Given the description of an element on the screen output the (x, y) to click on. 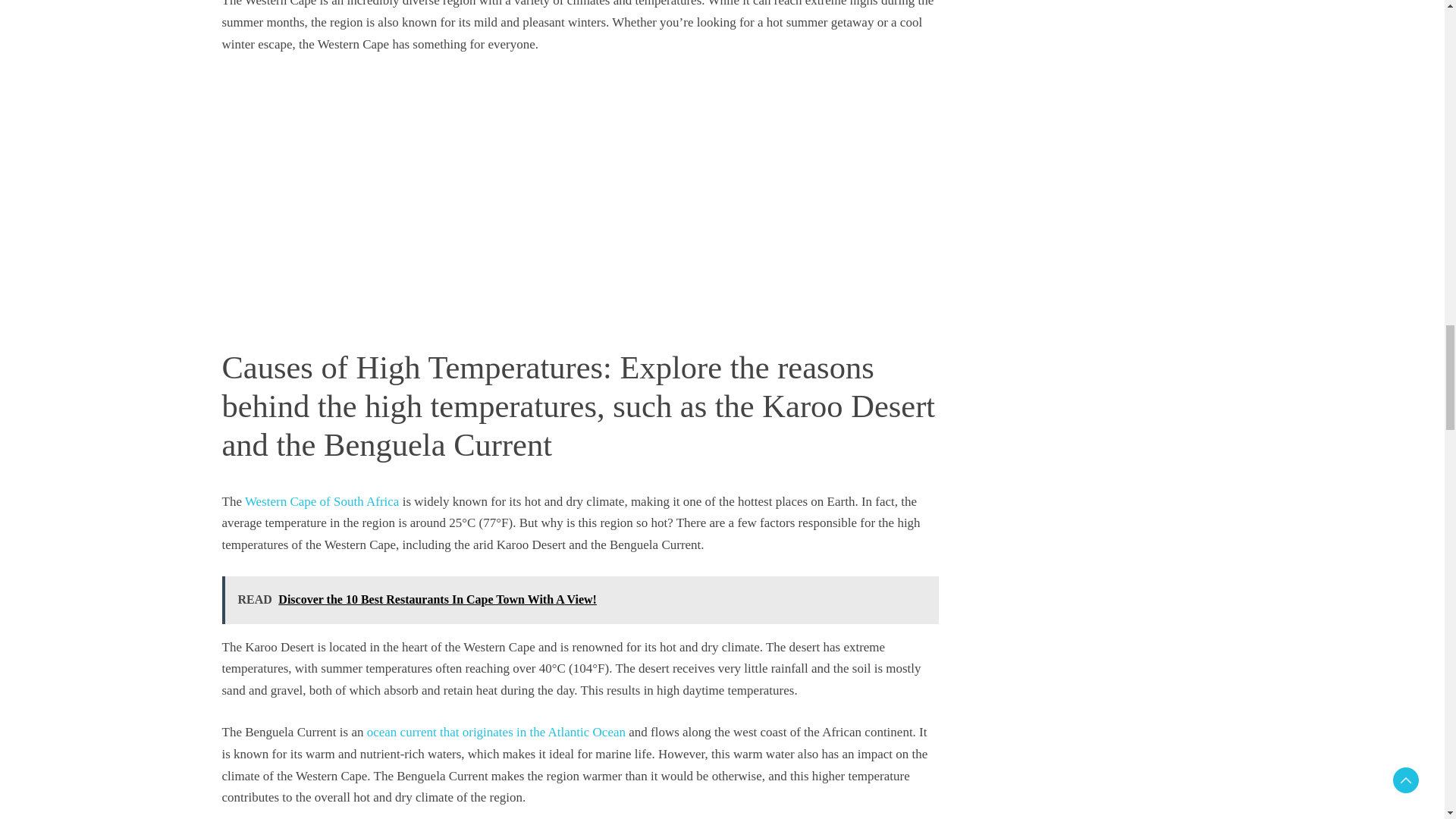
ocean current that originates in the Atlantic Ocean (496, 731)
Western Cape of South Africa (321, 501)
